Given the description of an element on the screen output the (x, y) to click on. 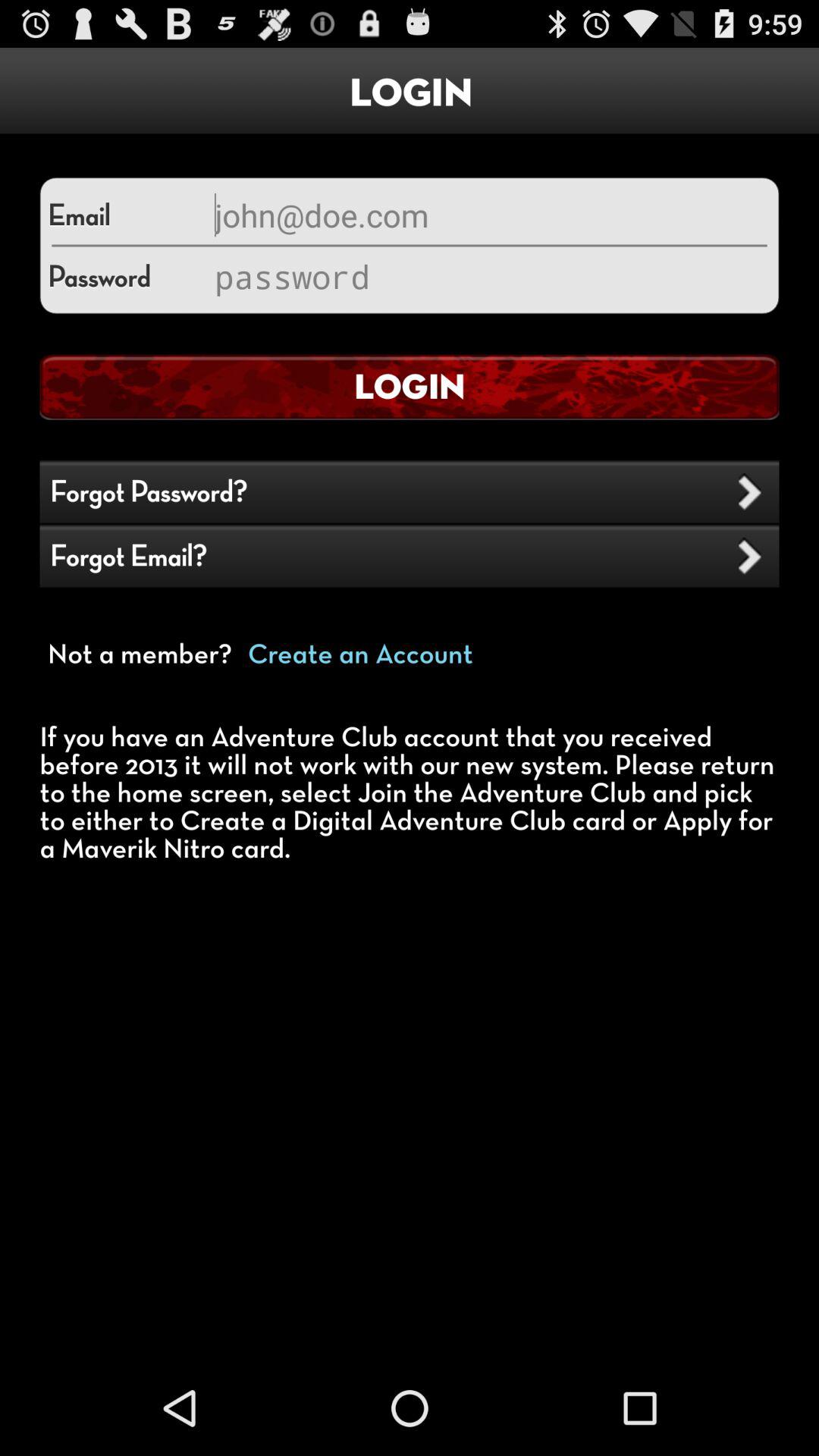
enter the email (489, 214)
